Given the description of an element on the screen output the (x, y) to click on. 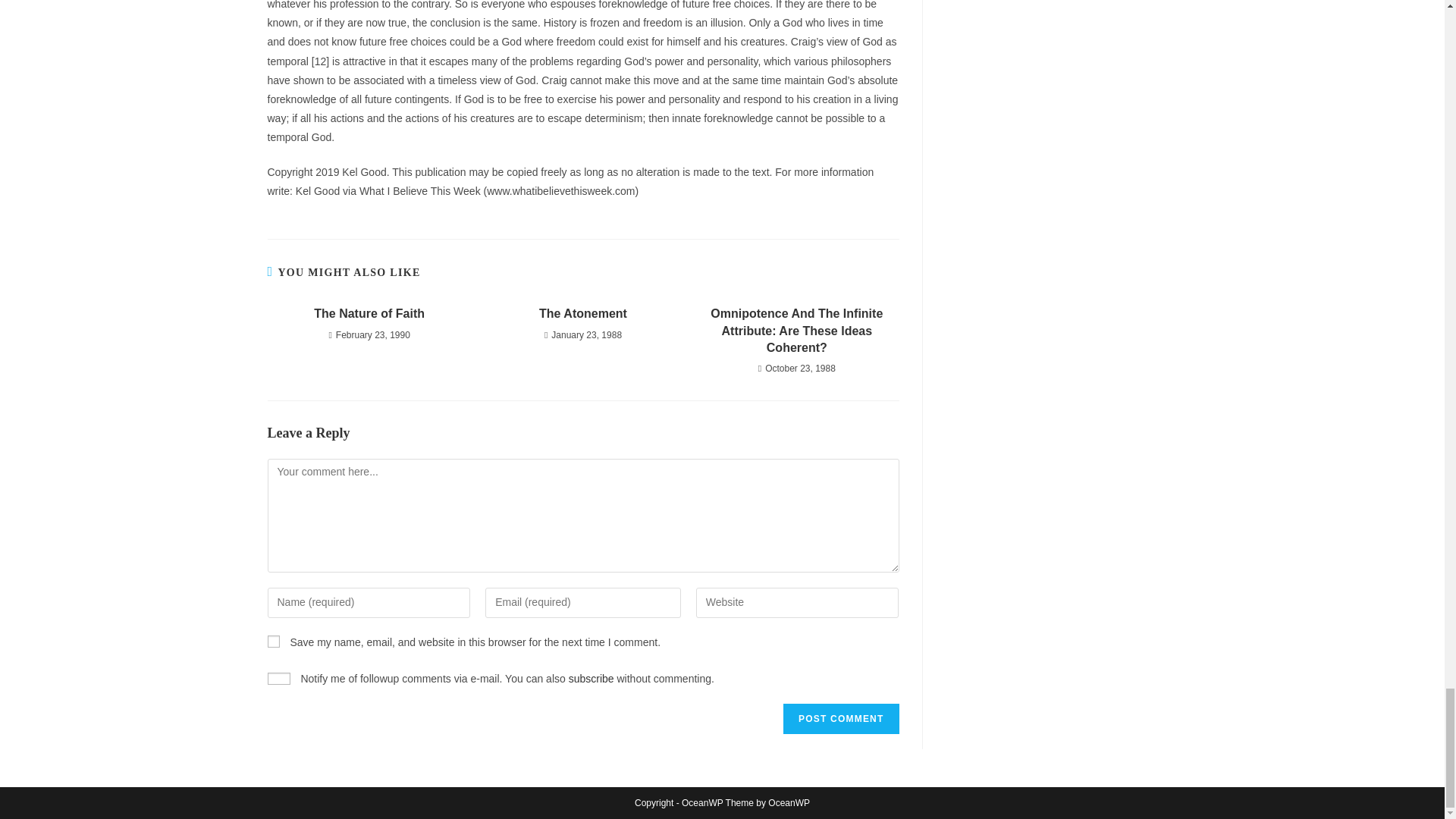
yes (277, 678)
Post Comment (840, 718)
yes (272, 641)
